Given the description of an element on the screen output the (x, y) to click on. 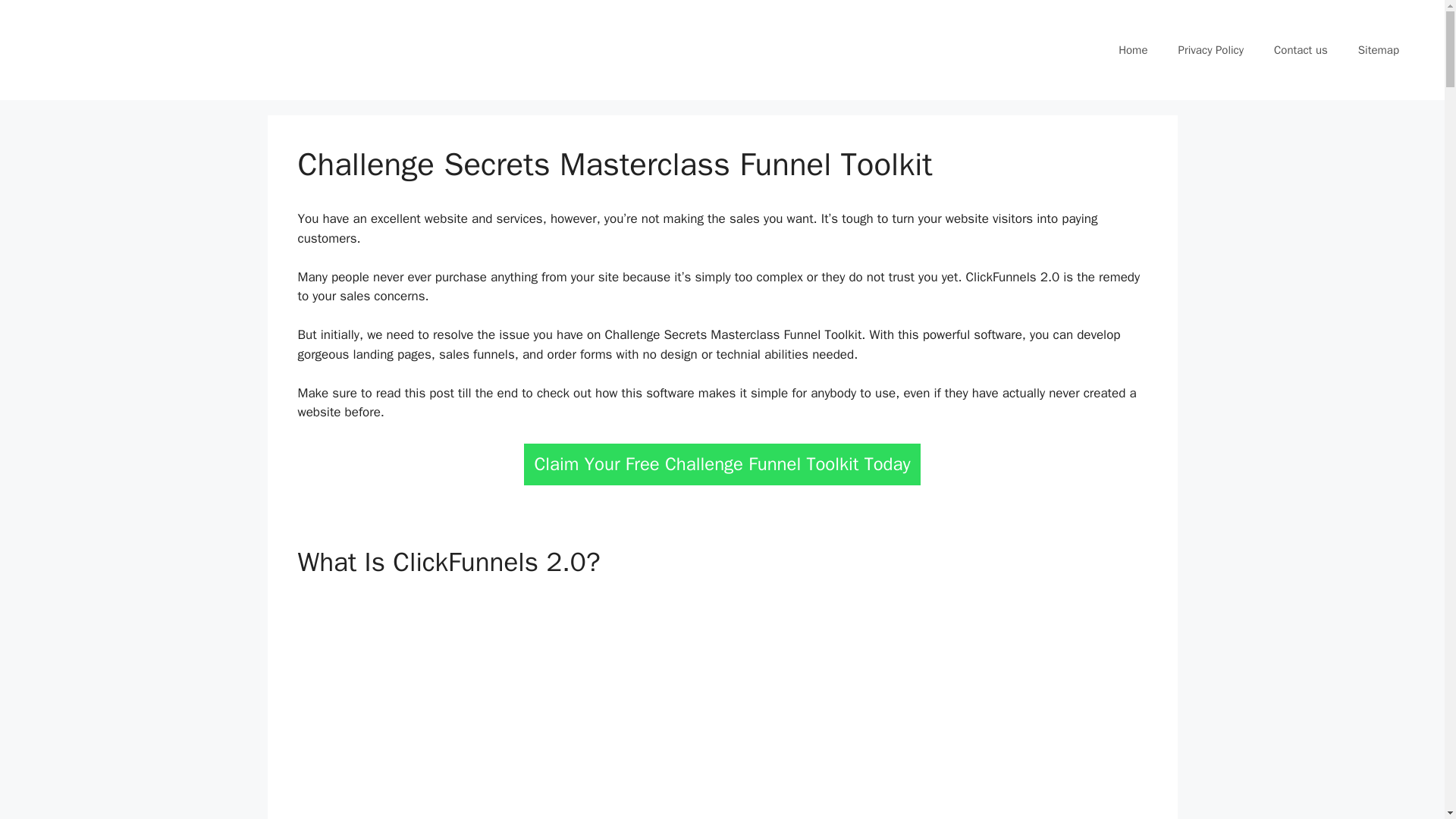
Claim Your Free Challenge Funnel Toolkit Today (722, 464)
Contact us (1300, 49)
Privacy Policy (1210, 49)
Sitemap (1377, 49)
Home (1132, 49)
